Given the description of an element on the screen output the (x, y) to click on. 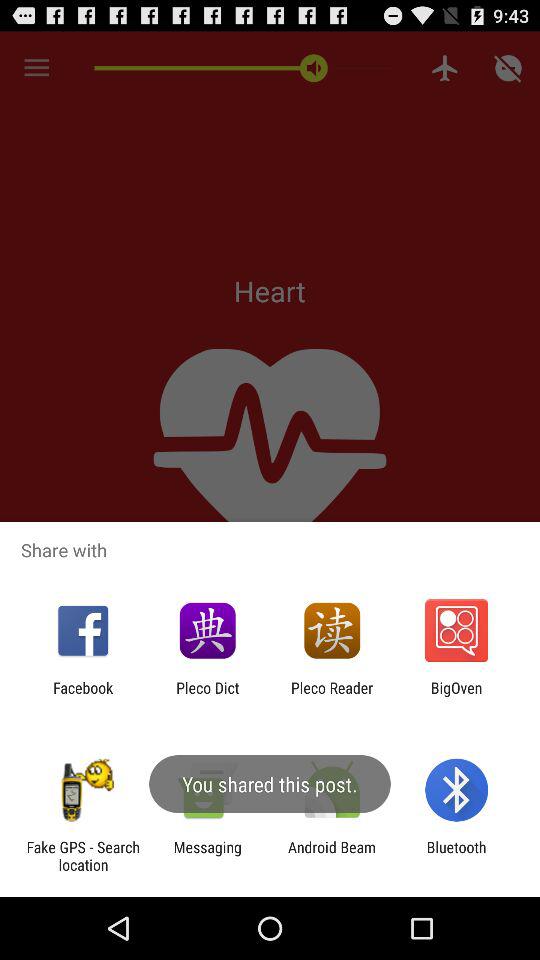
choose the icon to the left of the messaging item (83, 856)
